Given the description of an element on the screen output the (x, y) to click on. 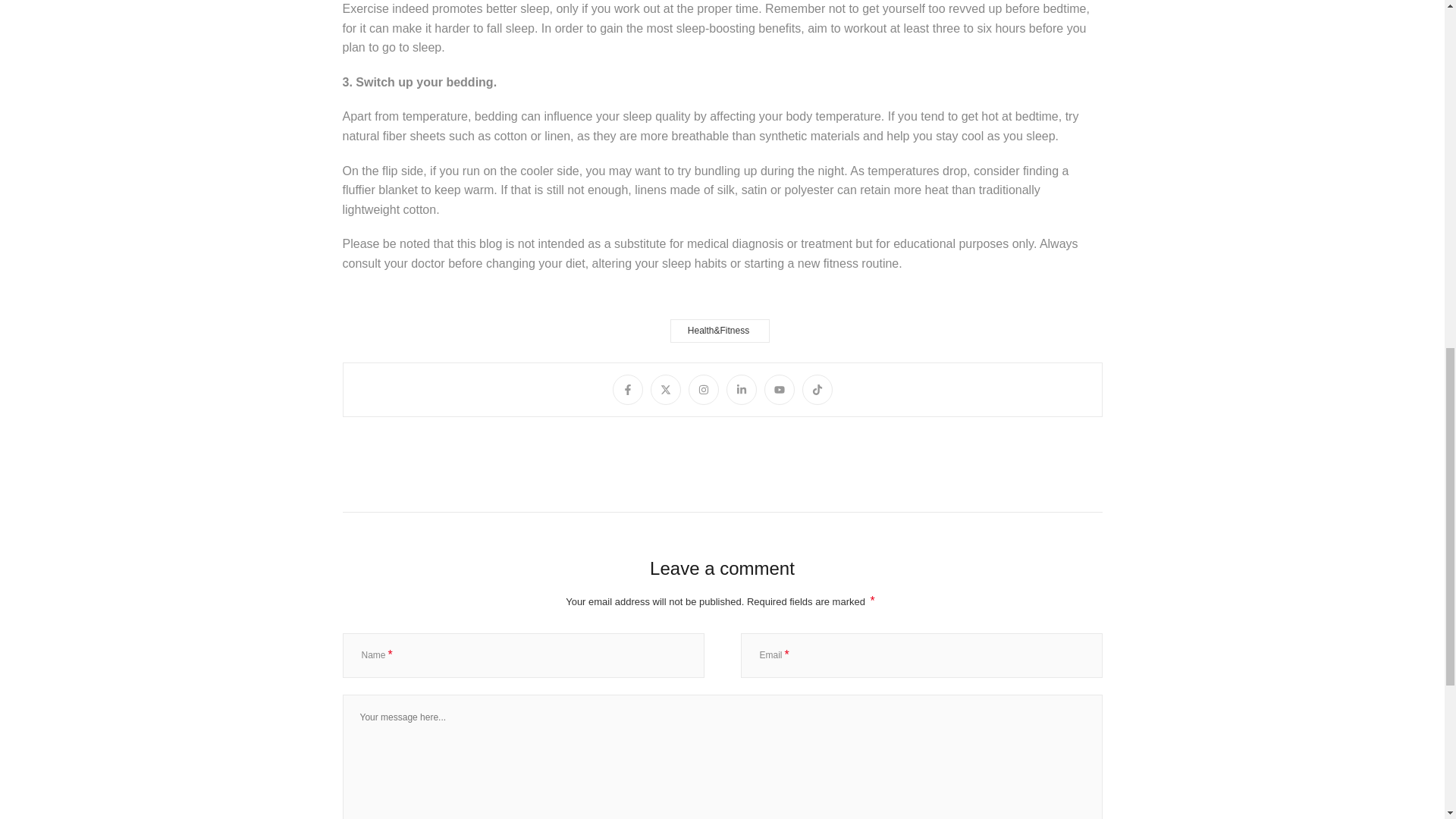
Follow on Facebook (627, 389)
Follow on YouTube (779, 389)
Follow on Instagram (703, 389)
Follow on Tiktok (817, 389)
Follow on Twitter (665, 389)
Follow on Linkedin (741, 389)
